Given the description of an element on the screen output the (x, y) to click on. 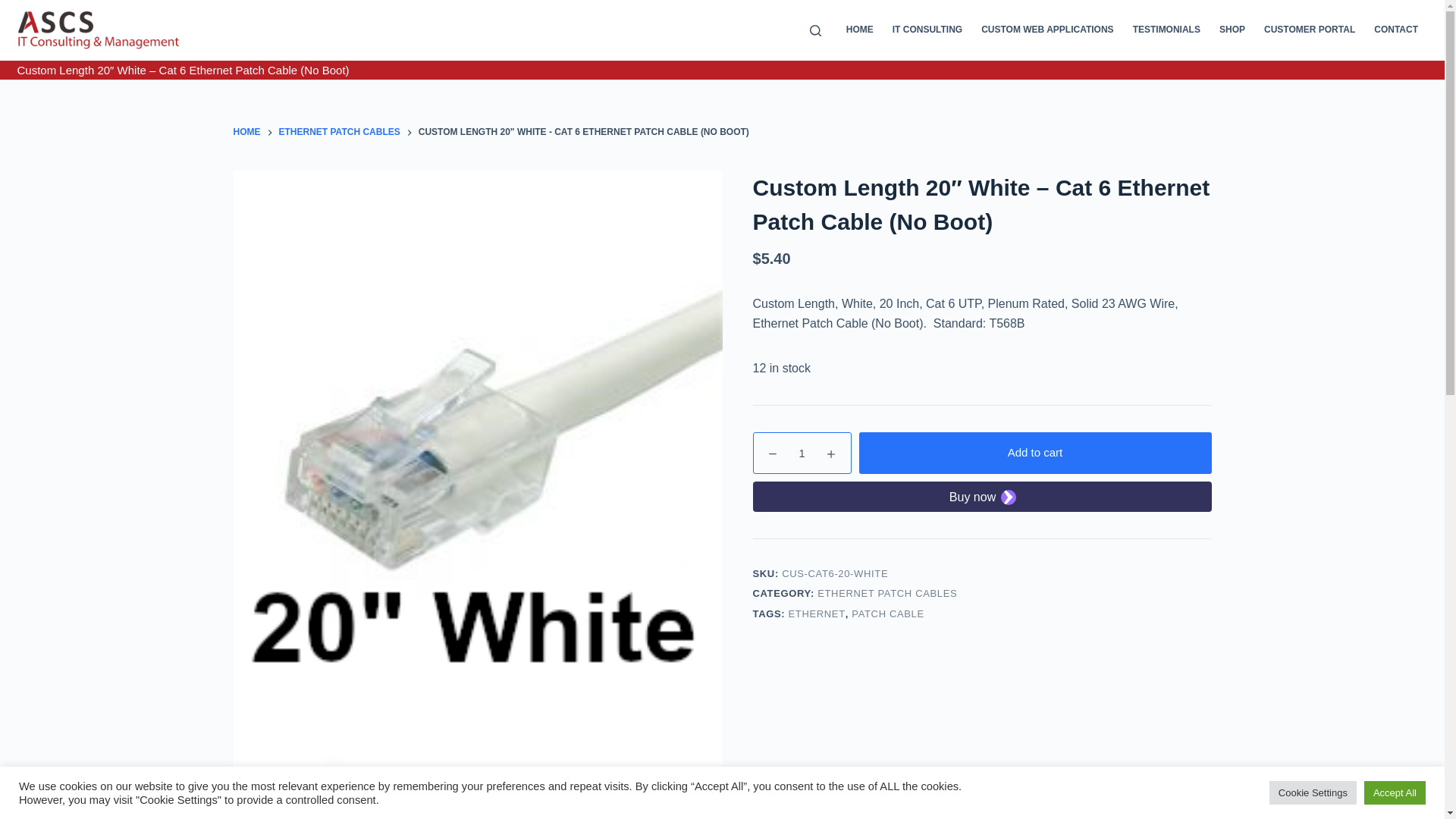
Secure payment button frame Element type: hover (981, 496)
HOME Element type: text (246, 132)
PATCH CABLE Element type: text (887, 613)
CONTACT Element type: text (1396, 30)
Cookie Settings Element type: text (1312, 792)
SHOP Element type: text (1231, 30)
CUSTOM WEB APPLICATIONS Element type: text (1047, 30)
ETHERNET Element type: text (816, 613)
ETHERNET PATCH CABLES Element type: text (339, 132)
Accept All Element type: text (1394, 792)
CUSTOMER PORTAL Element type: text (1309, 30)
Skip to content Element type: text (15, 7)
Add to cart Element type: text (1034, 452)
TESTIMONIALS Element type: text (1166, 30)
ETHERNET PATCH CABLES Element type: text (887, 593)
HOME Element type: text (859, 30)
IT CONSULTING Element type: text (926, 30)
